Given the description of an element on the screen output the (x, y) to click on. 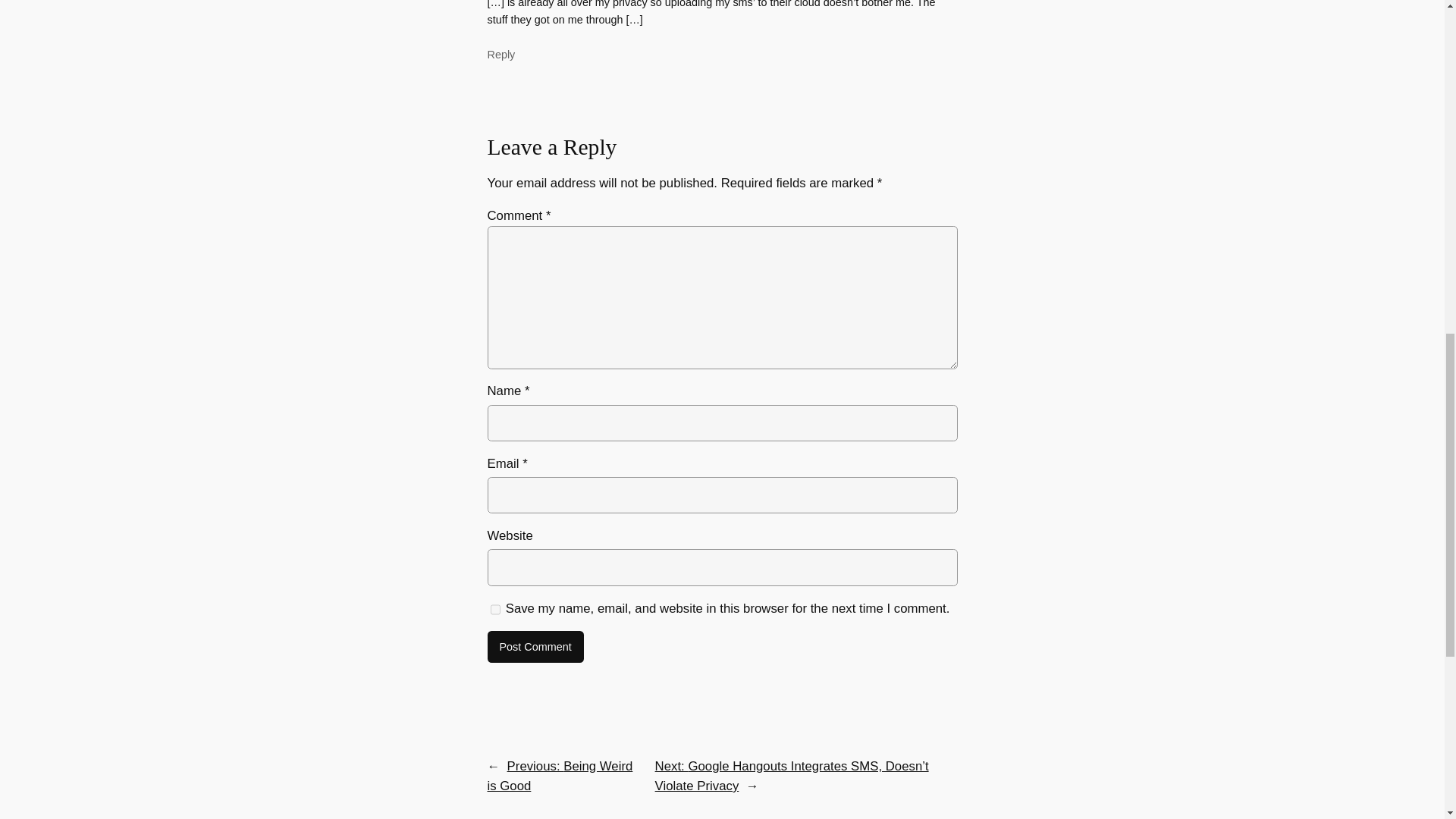
Previous: Being Weird is Good (558, 776)
Reply (500, 54)
Post Comment (534, 646)
Post Comment (534, 646)
